Given the description of an element on the screen output the (x, y) to click on. 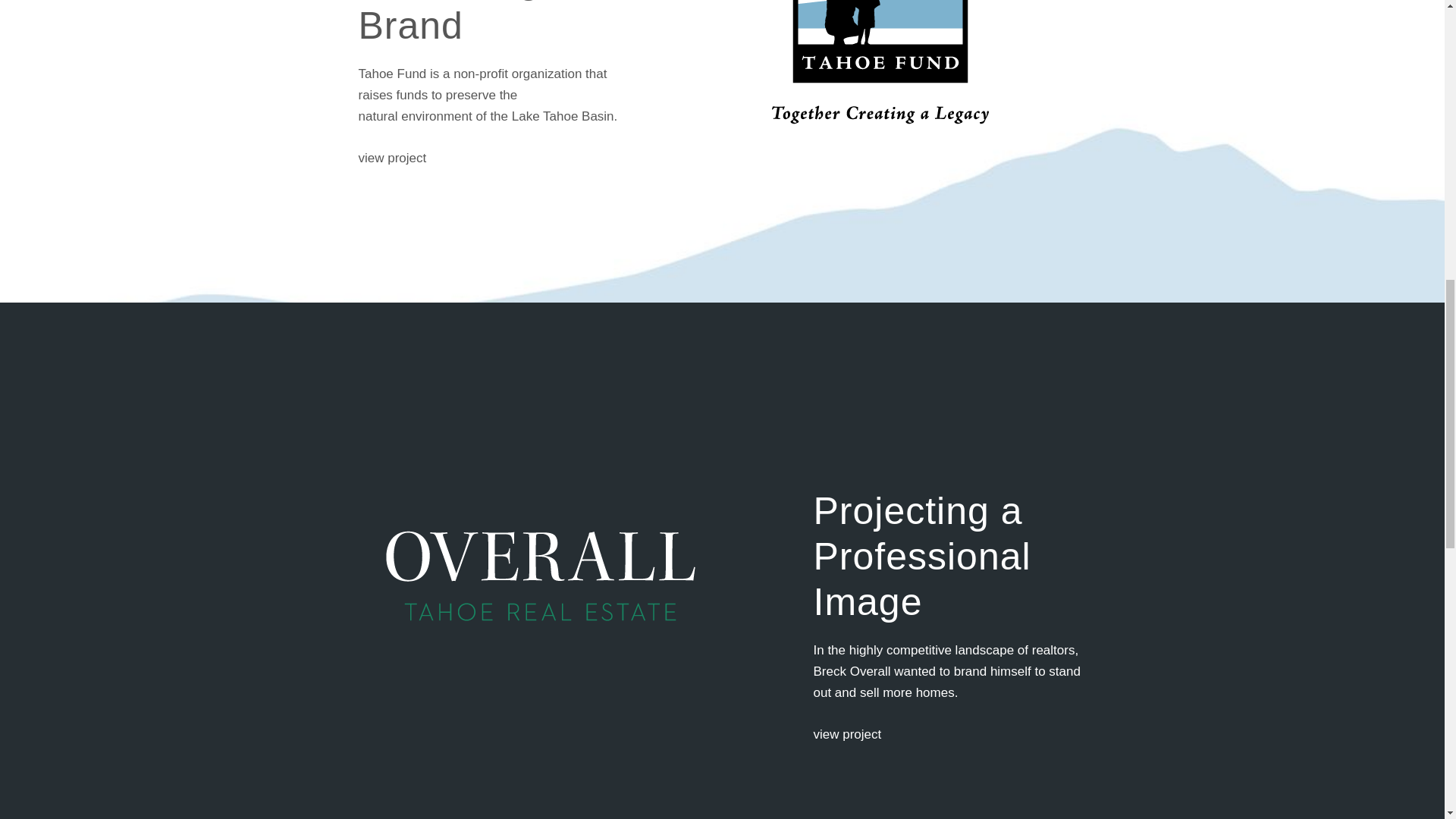
view project (392, 157)
view project (846, 734)
